Given the description of an element on the screen output the (x, y) to click on. 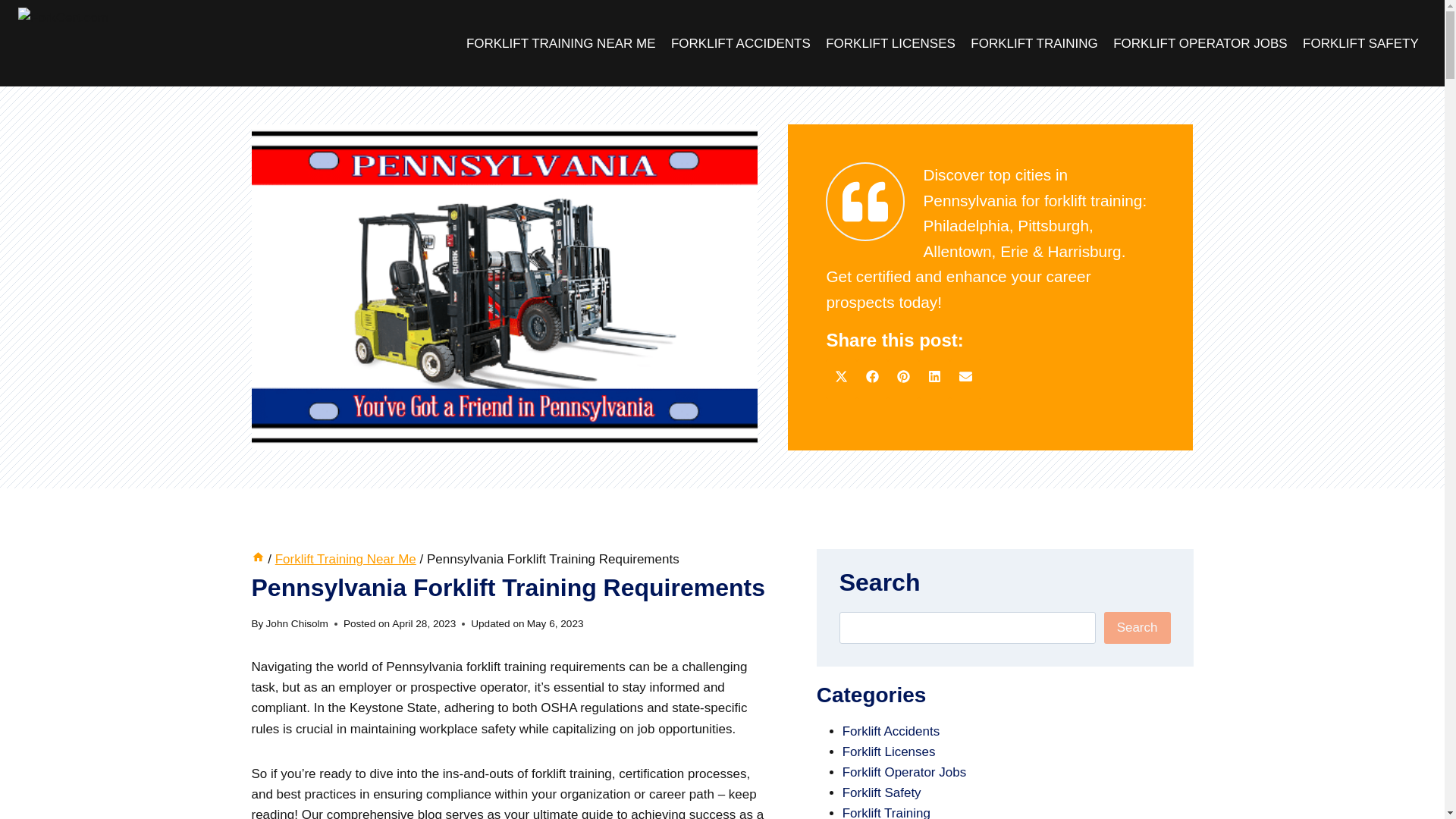
FORKLIFT LICENSES (890, 42)
FORKLIFT TRAINING (1033, 42)
FORKLIFT OPERATOR JOBS (1200, 42)
Home (257, 559)
FORKLIFT SAFETY (1360, 42)
John Chisolm (297, 623)
Forklift Training Near Me (345, 559)
FORKLIFT ACCIDENTS (740, 42)
FORKLIFT TRAINING NEAR ME (560, 42)
